Given the description of an element on the screen output the (x, y) to click on. 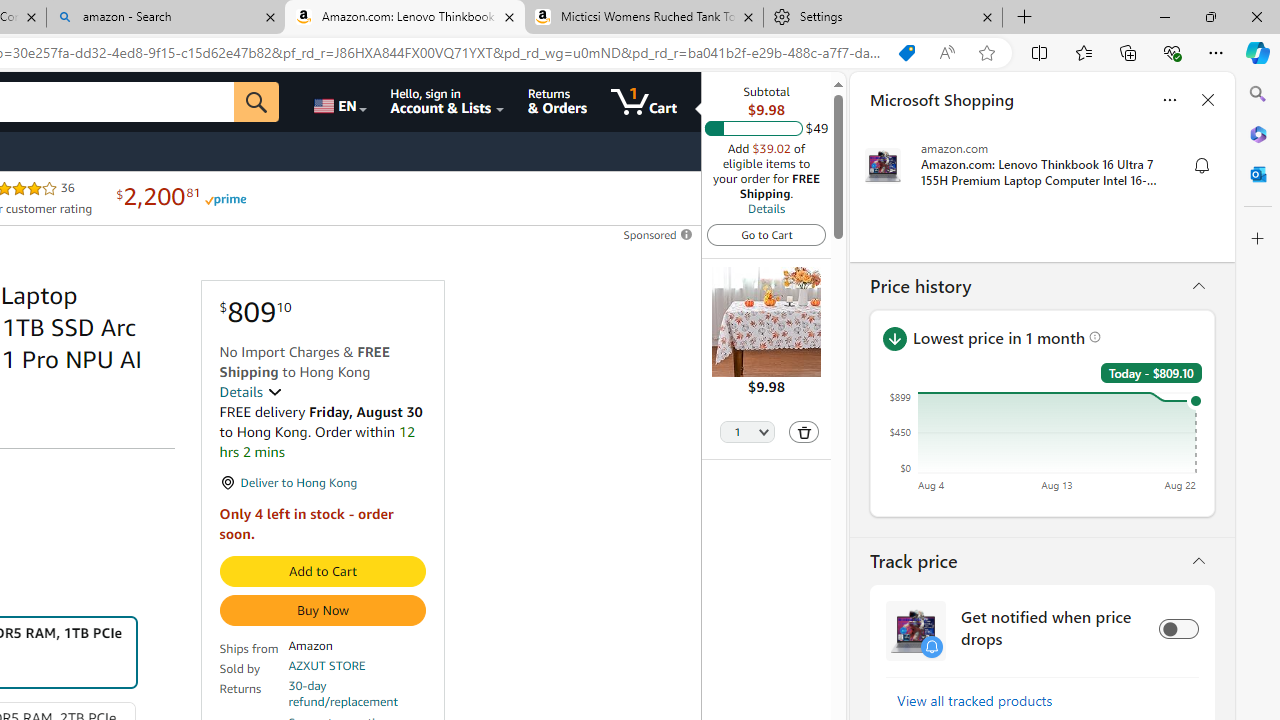
Prime (224, 198)
Go to Cart (766, 234)
Buy Now (322, 610)
